Given the description of an element on the screen output the (x, y) to click on. 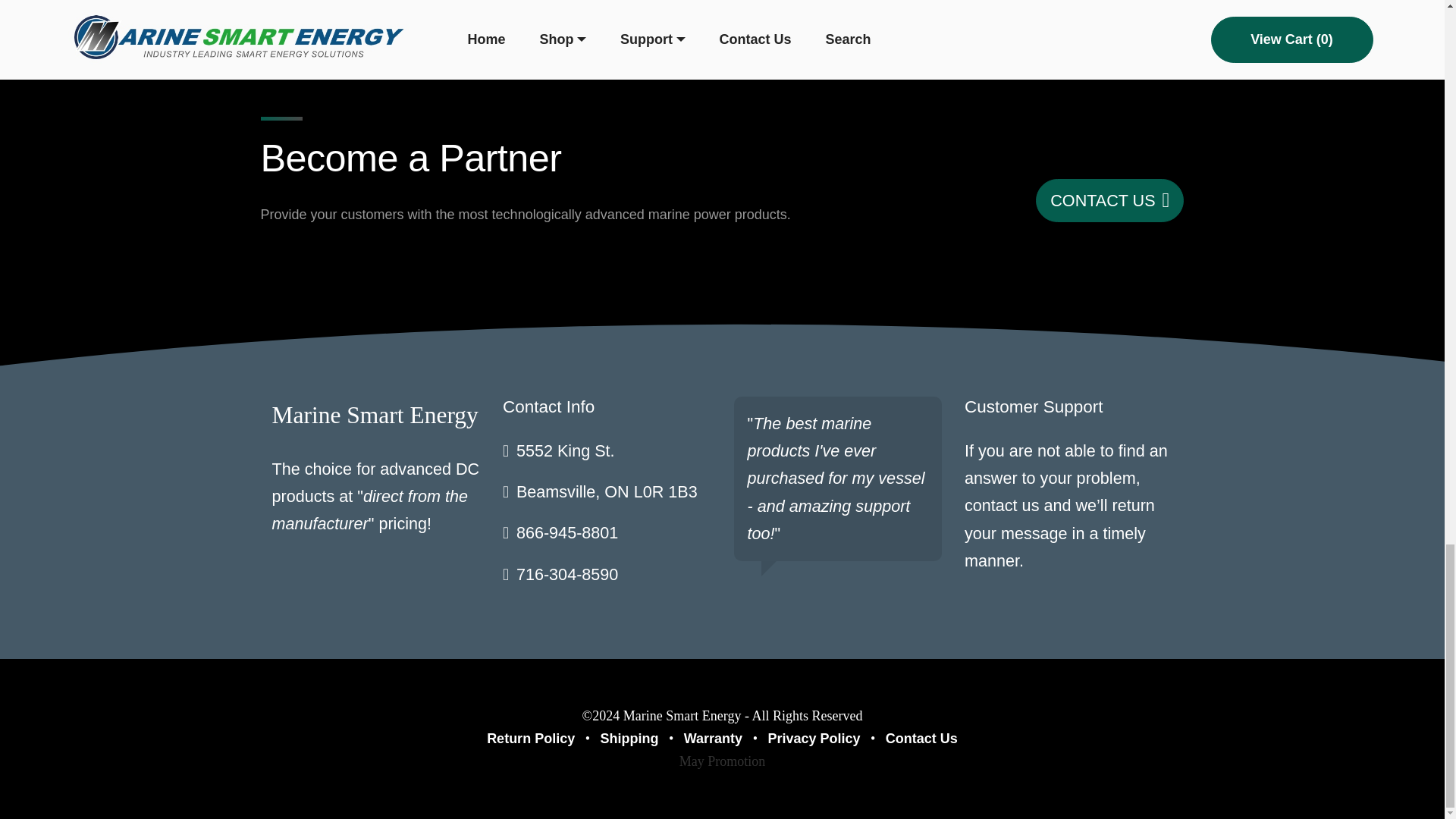
866-945-8801 (566, 532)
Return Policy (530, 738)
CONTACT US (1109, 200)
Shipping (628, 738)
Warranty (713, 738)
716-304-8590 (566, 574)
